Given the description of an element on the screen output the (x, y) to click on. 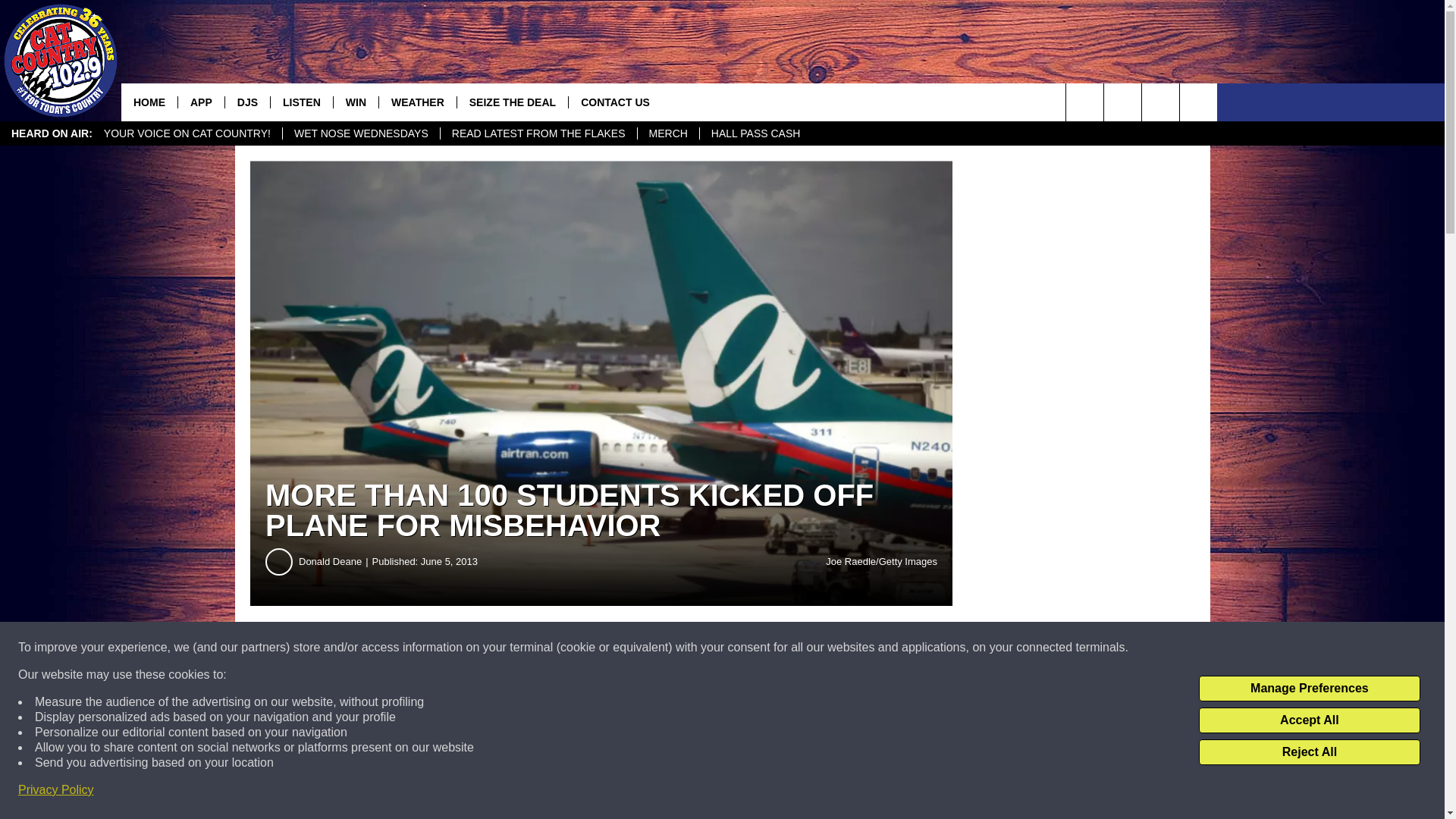
HOME (148, 102)
HALL PASS CASH (755, 133)
Privacy Policy (55, 789)
Share on Facebook (460, 647)
WET NOSE WEDNESDAYS (360, 133)
DJS (246, 102)
Accept All (1309, 720)
LISTEN (301, 102)
Manage Preferences (1309, 688)
YOUR VOICE ON CAT COUNTRY! (187, 133)
READ LATEST FROM THE FLAKES (538, 133)
WIN (355, 102)
Reject All (1309, 751)
APP (200, 102)
Share on Twitter (741, 647)
